Given the description of an element on the screen output the (x, y) to click on. 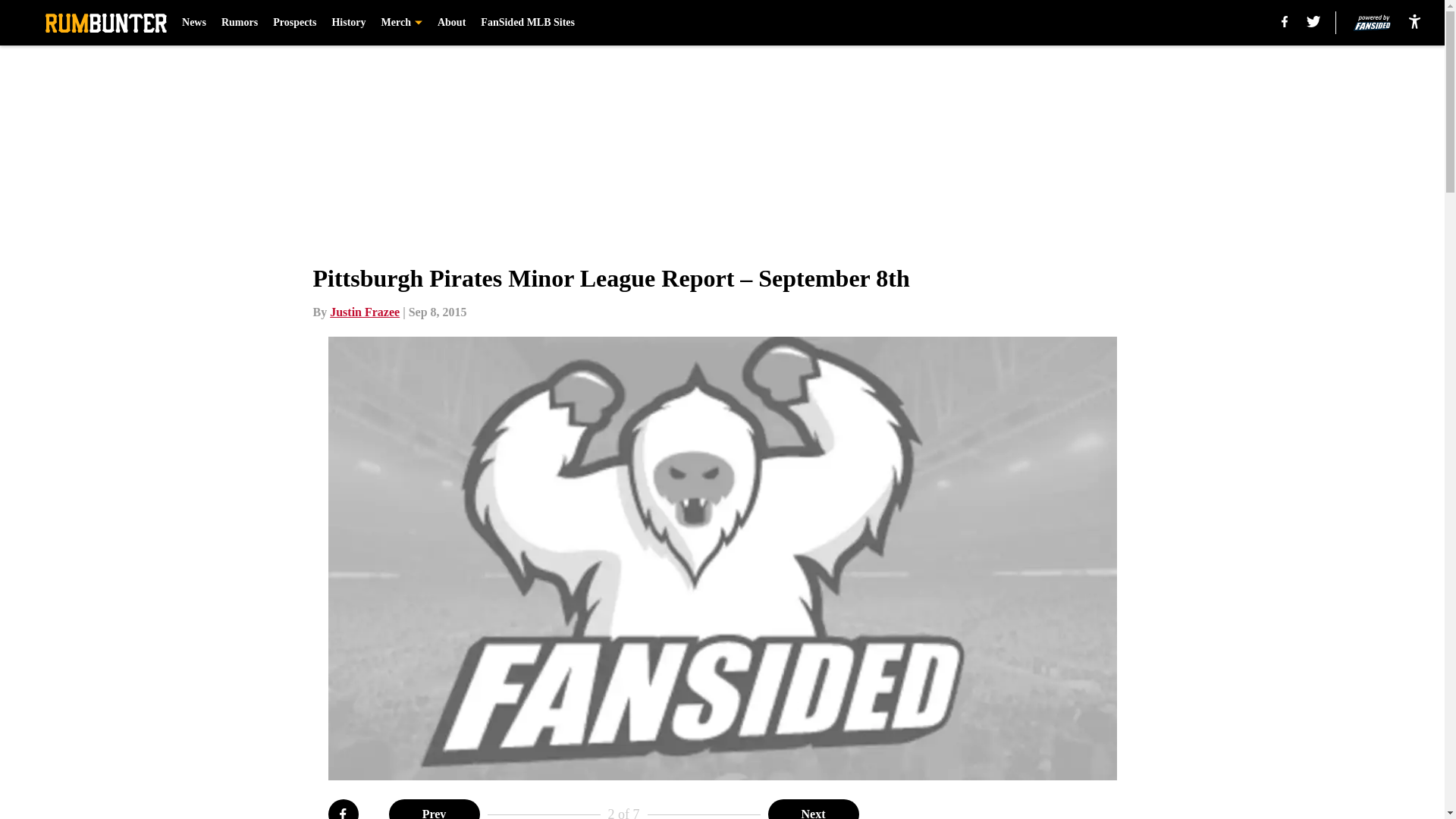
Prospects (294, 22)
Rumors (239, 22)
About (451, 22)
Prev (433, 809)
Justin Frazee (364, 311)
History (348, 22)
Next (813, 809)
News (194, 22)
FanSided MLB Sites (527, 22)
